Given the description of an element on the screen output the (x, y) to click on. 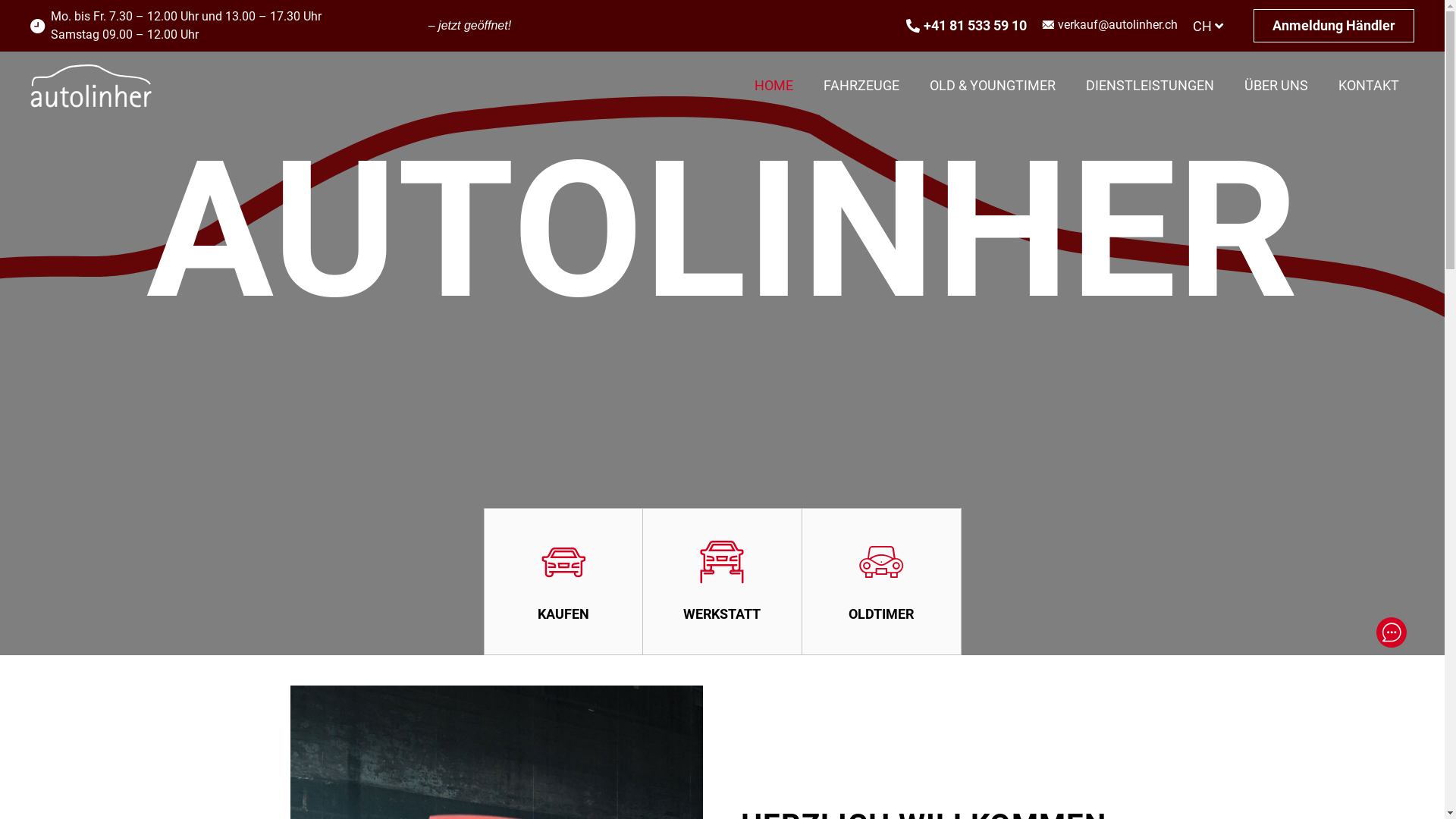
HOME Element type: text (773, 85)
+41 81 533 59 10 Element type: text (966, 25)
FAHRZEUGE Element type: text (861, 85)
WERKSTATT Element type: text (722, 581)
KAUFEN Element type: text (563, 581)
verkauf@autolinher.ch Element type: text (1116, 25)
KONTAKT Element type: text (1368, 85)
OLD & YOUNGTIMER Element type: text (992, 85)
OLDTIMER Element type: text (881, 581)
DIENSTLEISTUNGEN Element type: text (1149, 85)
CH Element type: text (1207, 26)
